Given the description of an element on the screen output the (x, y) to click on. 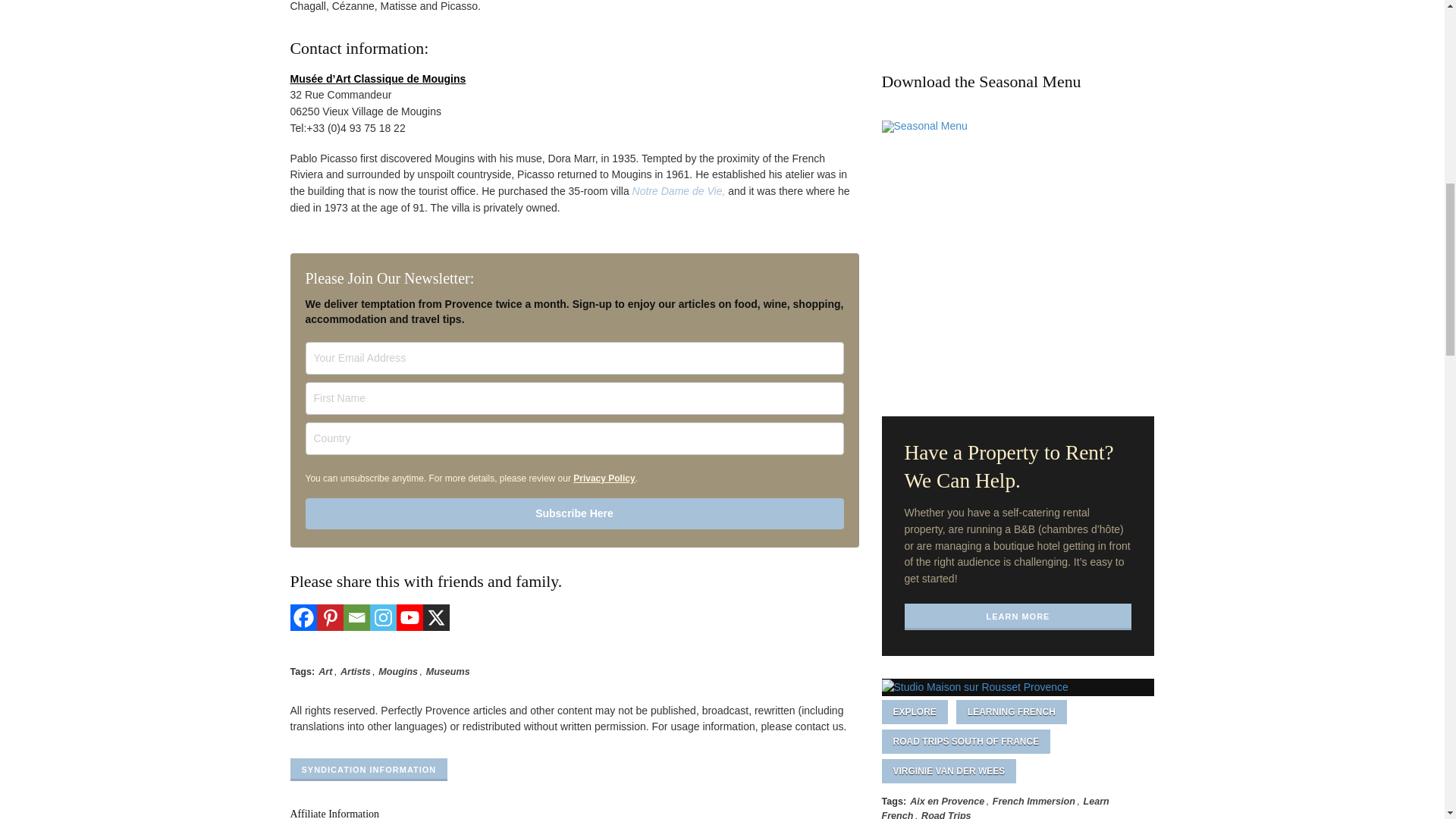
Facebook (302, 617)
Instagram (382, 617)
Email (355, 617)
Youtube (409, 617)
Pinterest (330, 617)
X (436, 617)
